Given the description of an element on the screen output the (x, y) to click on. 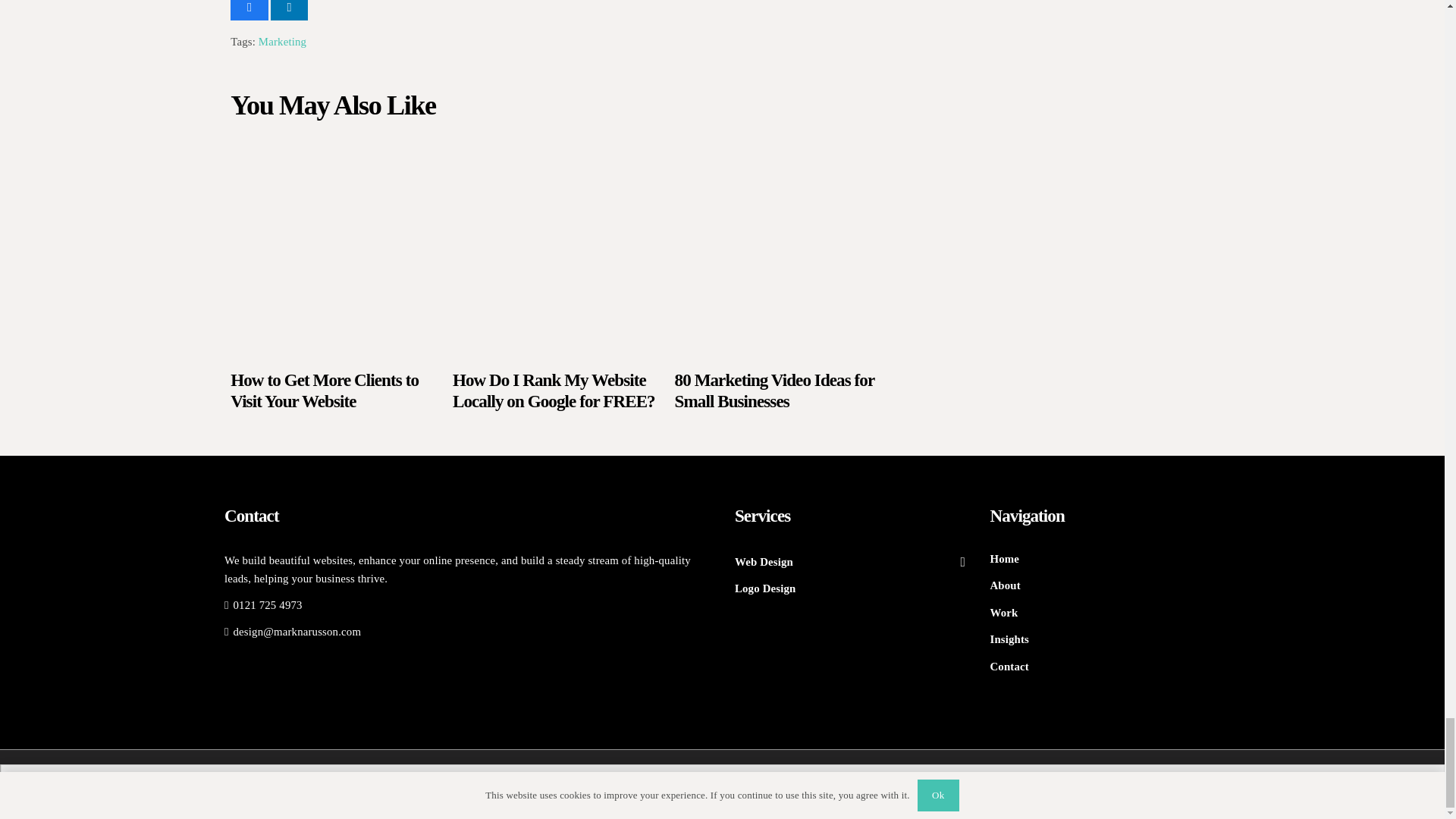
How to Get More Clients to Visit Your Website (324, 390)
Share this (288, 10)
Marketing (282, 41)
0121 725 4973 (263, 604)
Website Design (1005, 585)
80 Marketing Video Ideas for Small Businesses (775, 390)
How Do I Rank My Website Locally on Google for FREE? (553, 390)
Share this (248, 10)
Web Design (849, 561)
